Given the description of an element on the screen output the (x, y) to click on. 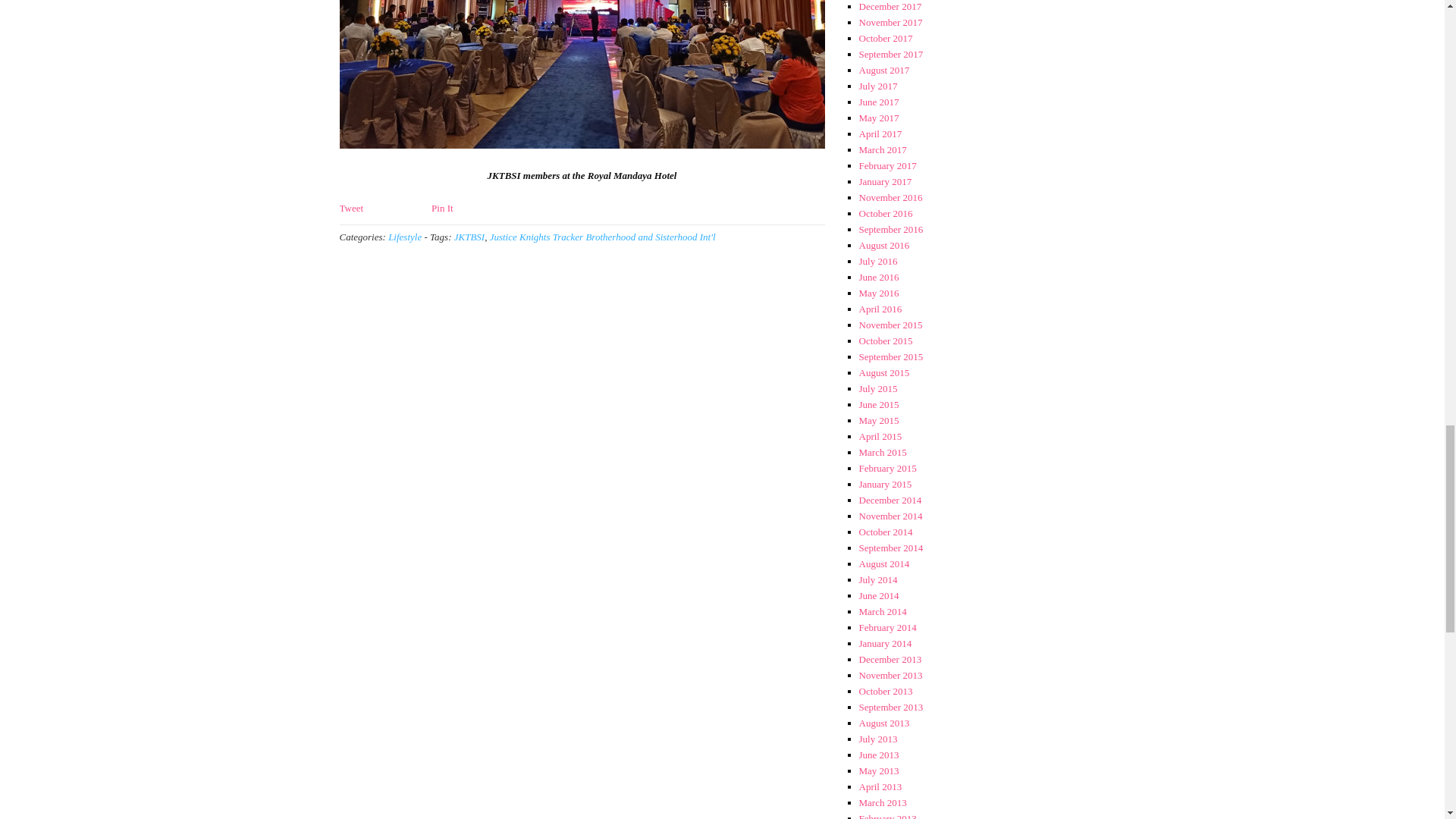
Pin It (441, 207)
Tweet (351, 207)
Lifestyle (405, 236)
Justice Knights Tracker Brotherhood and Sisterhood Int'l (602, 236)
JKTBSI (469, 236)
